Given the description of an element on the screen output the (x, y) to click on. 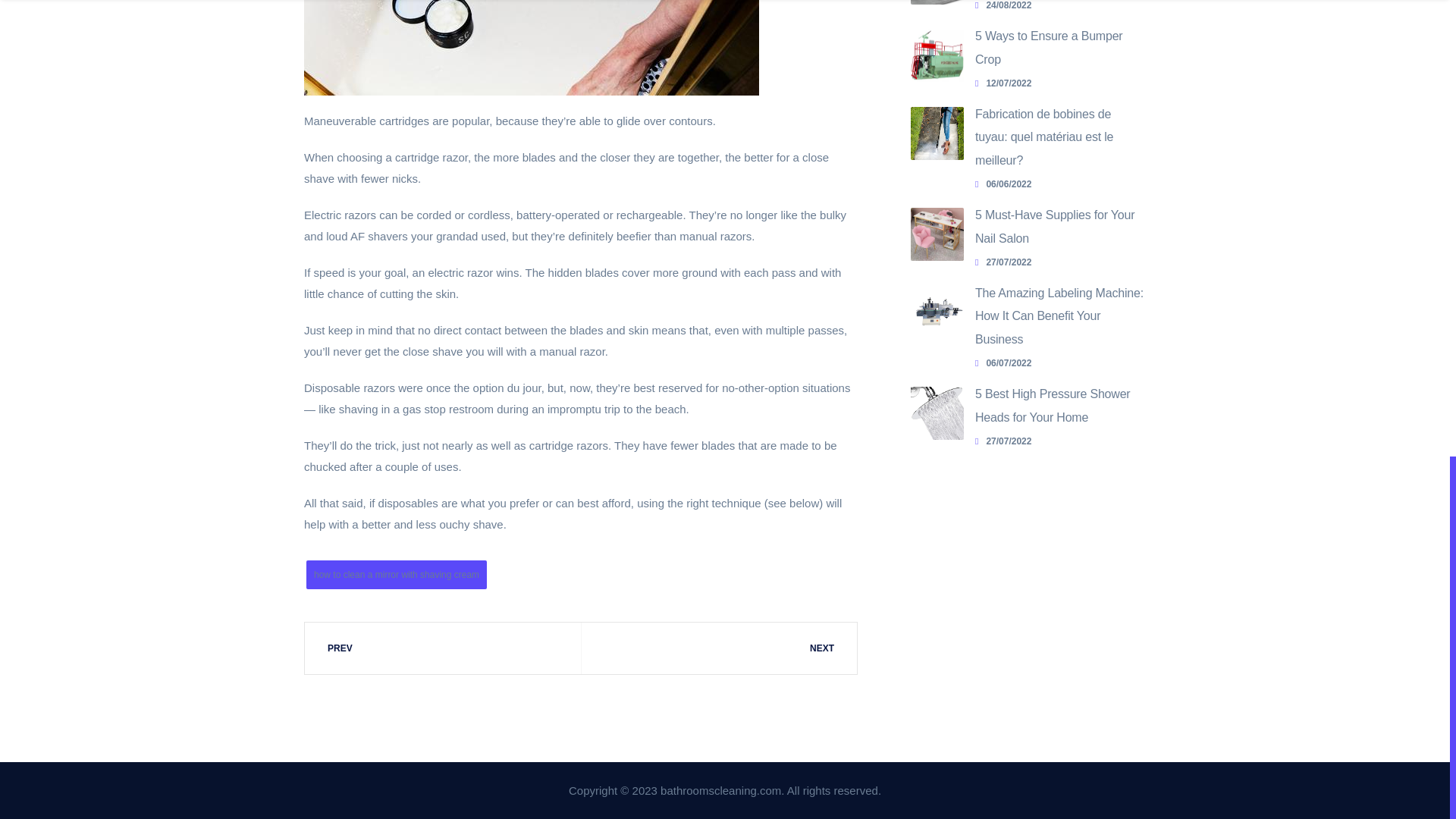
5 Ways to Ensure a Bumper Crop (1048, 47)
NEXT (718, 648)
PREV (443, 648)
how to clean a mirror with shaving cream (395, 574)
